Given the description of an element on the screen output the (x, y) to click on. 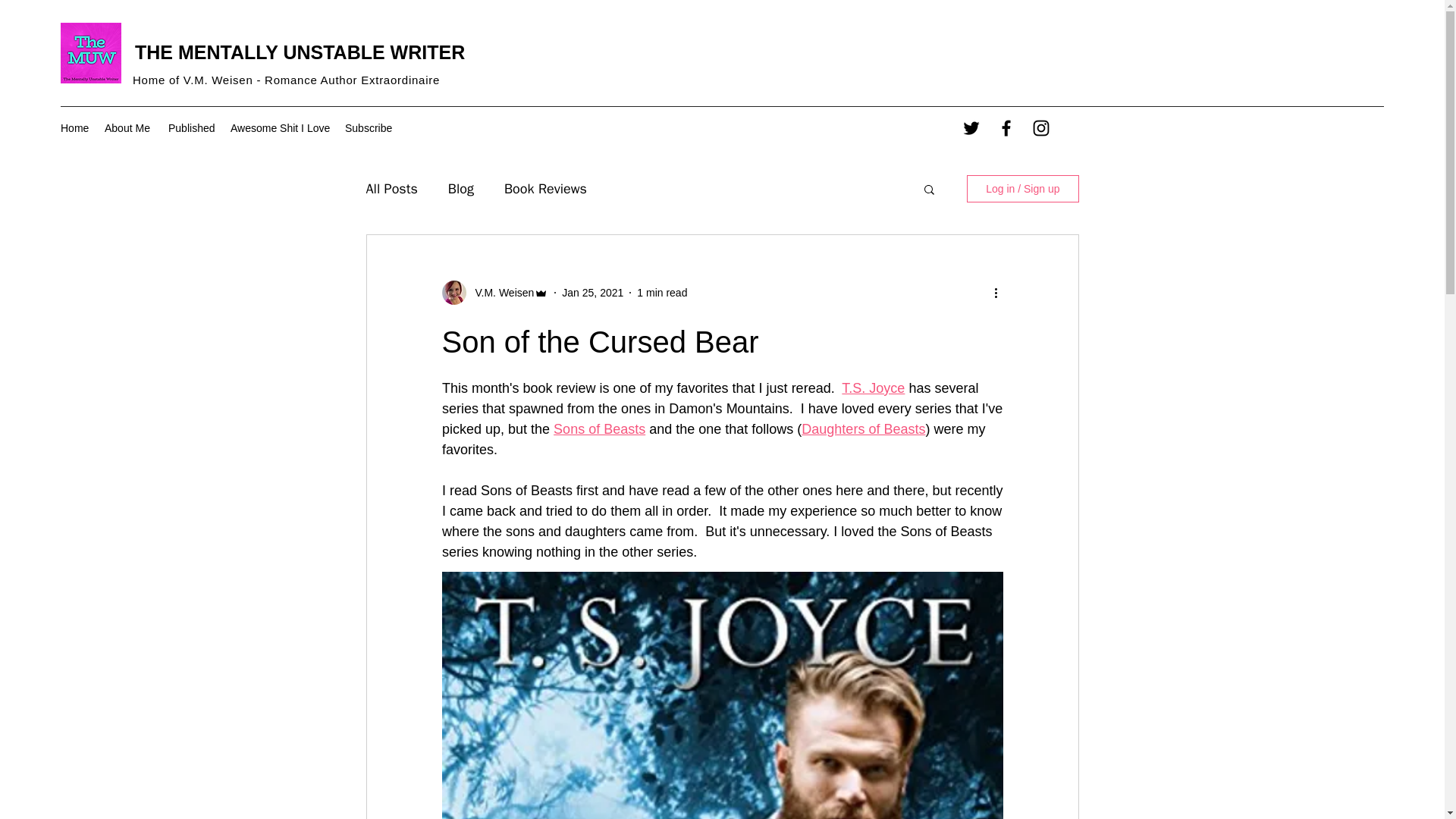
Awesome Shit I Love (279, 128)
Sons of Beasts (599, 428)
Book Reviews (544, 188)
Home (74, 128)
All Posts (390, 188)
About Me (128, 128)
V.M. Weisen (499, 293)
Subscribe (368, 128)
Blog (461, 188)
Jan 25, 2021 (592, 292)
